Given the description of an element on the screen output the (x, y) to click on. 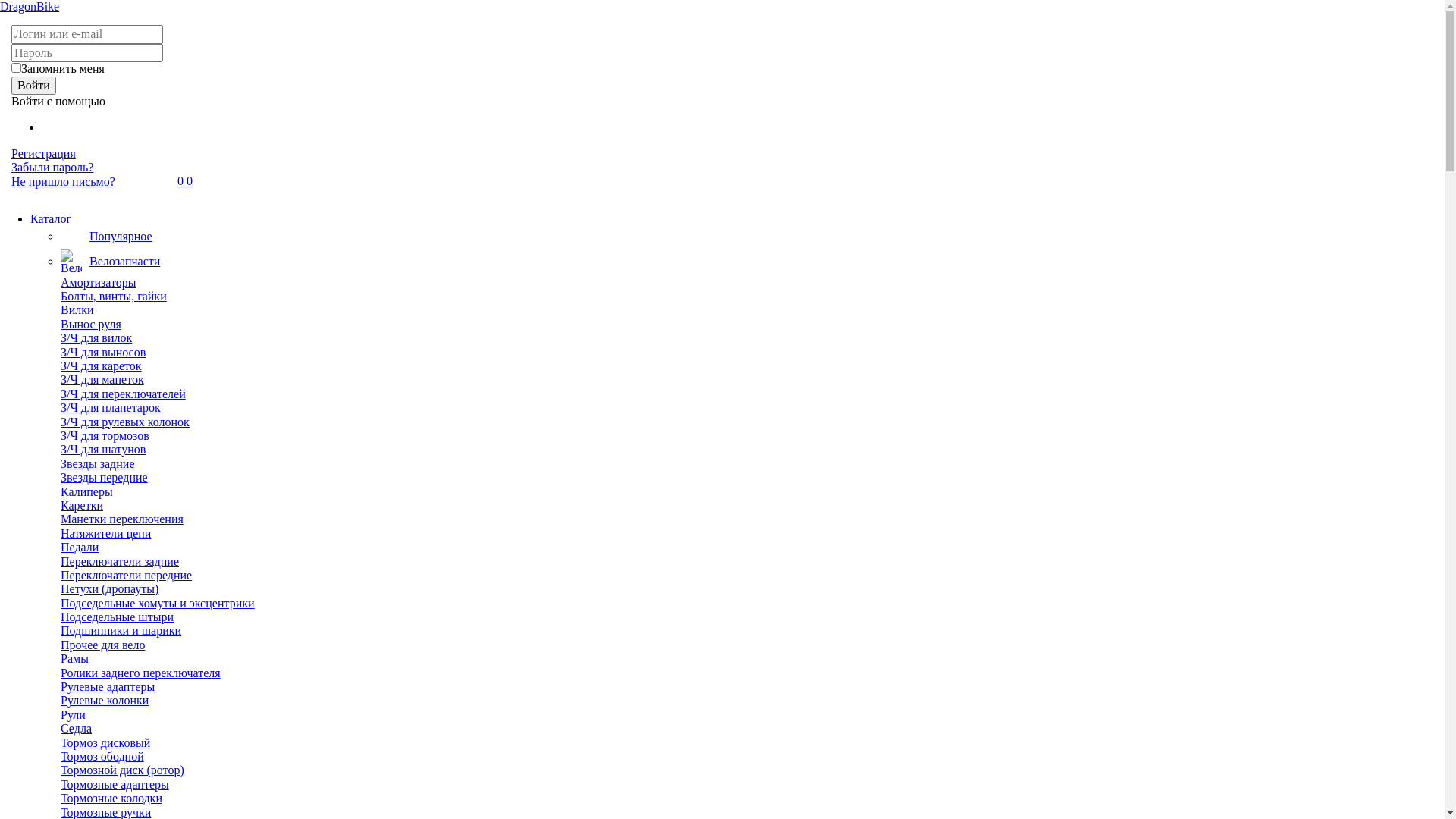
0 Element type: text (189, 181)
0 Element type: text (181, 181)
DragonBike Element type: text (29, 6)
